Given the description of an element on the screen output the (x, y) to click on. 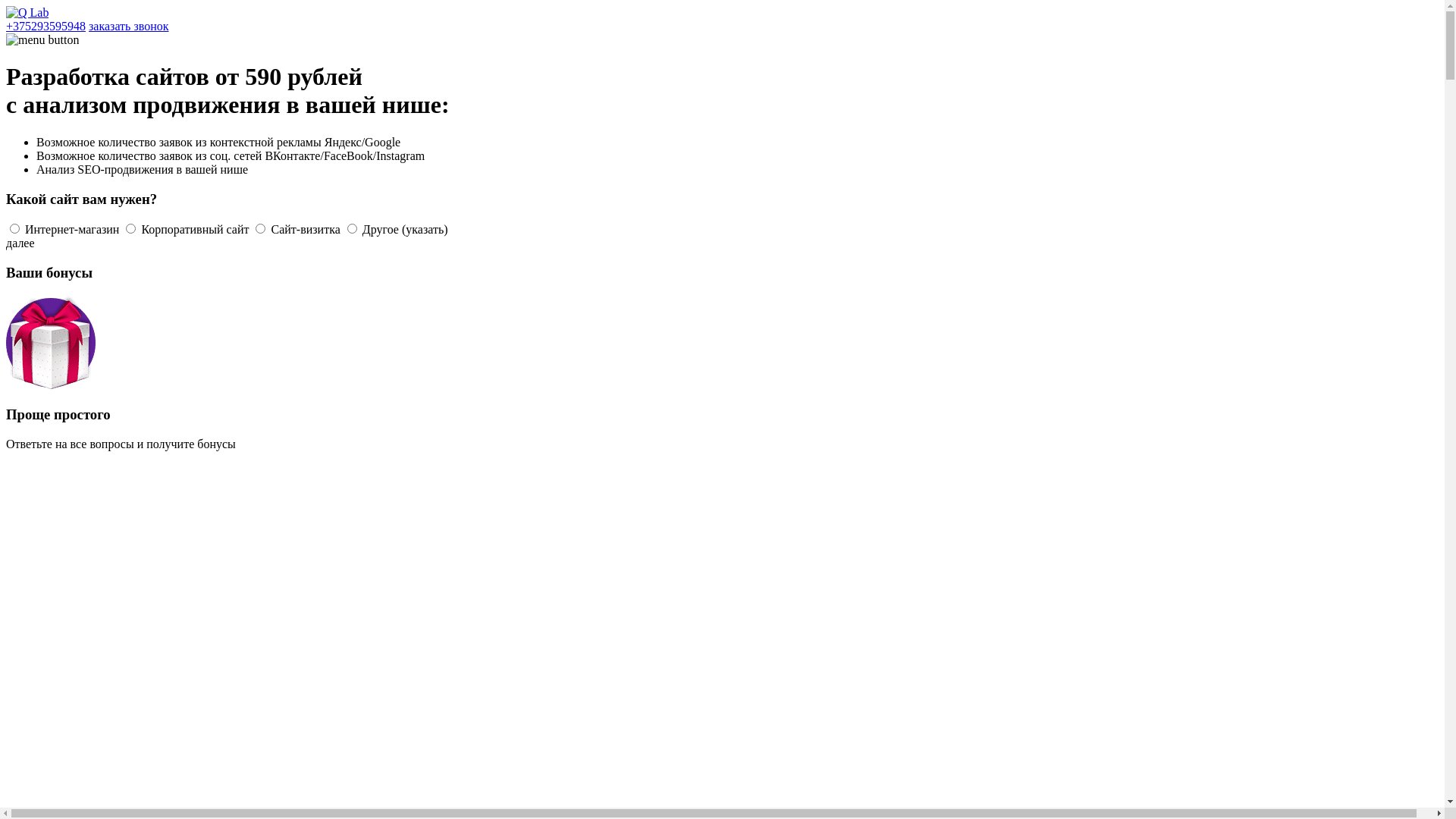
+375293595948 Element type: text (45, 25)
